Given the description of an element on the screen output the (x, y) to click on. 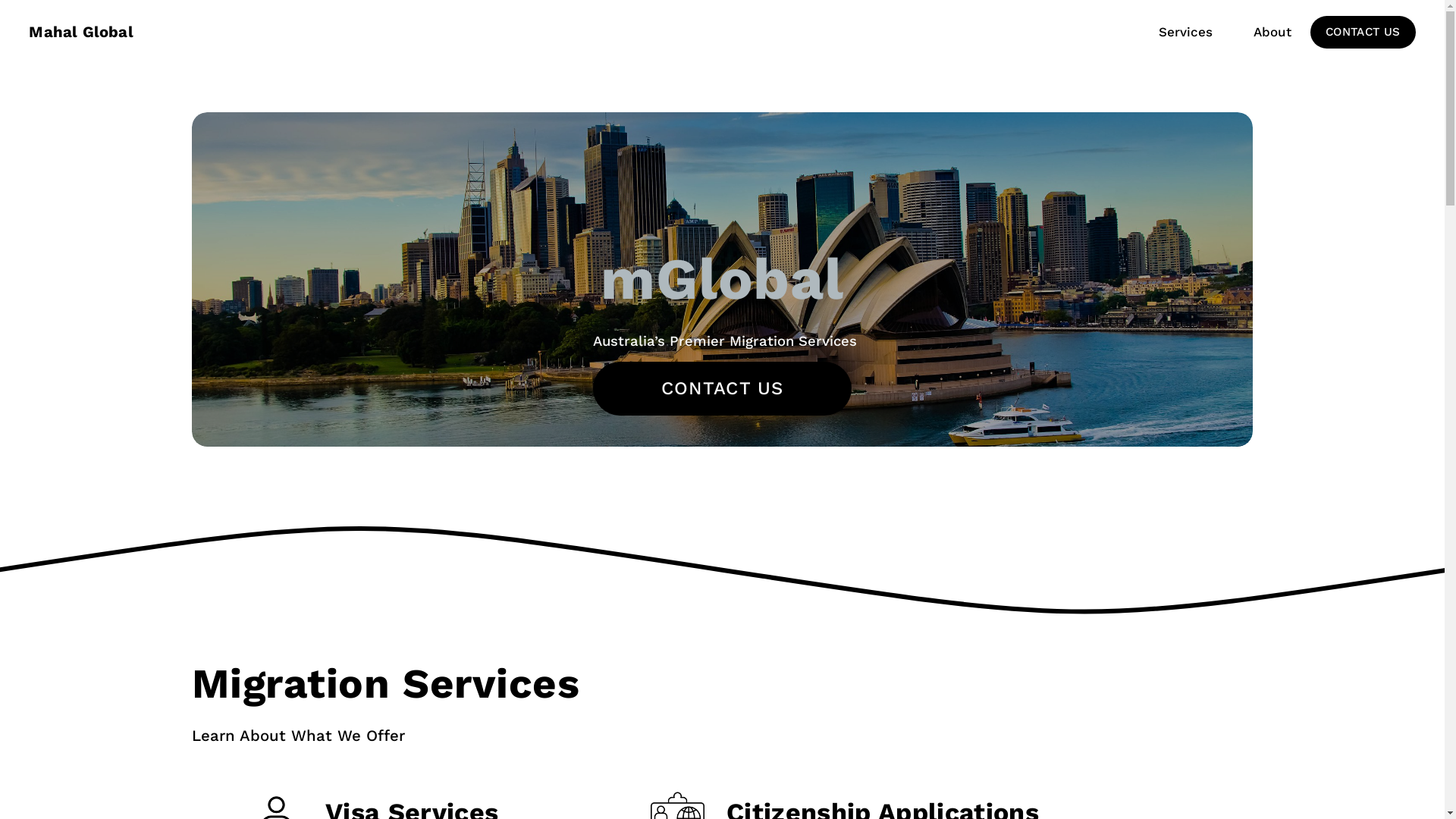
Services Element type: text (1185, 31)
About Element type: text (1272, 31)
CONTACT US Element type: text (722, 388)
CONTACT US Element type: text (1362, 31)
Mahal Global Element type: text (80, 31)
